Given the description of an element on the screen output the (x, y) to click on. 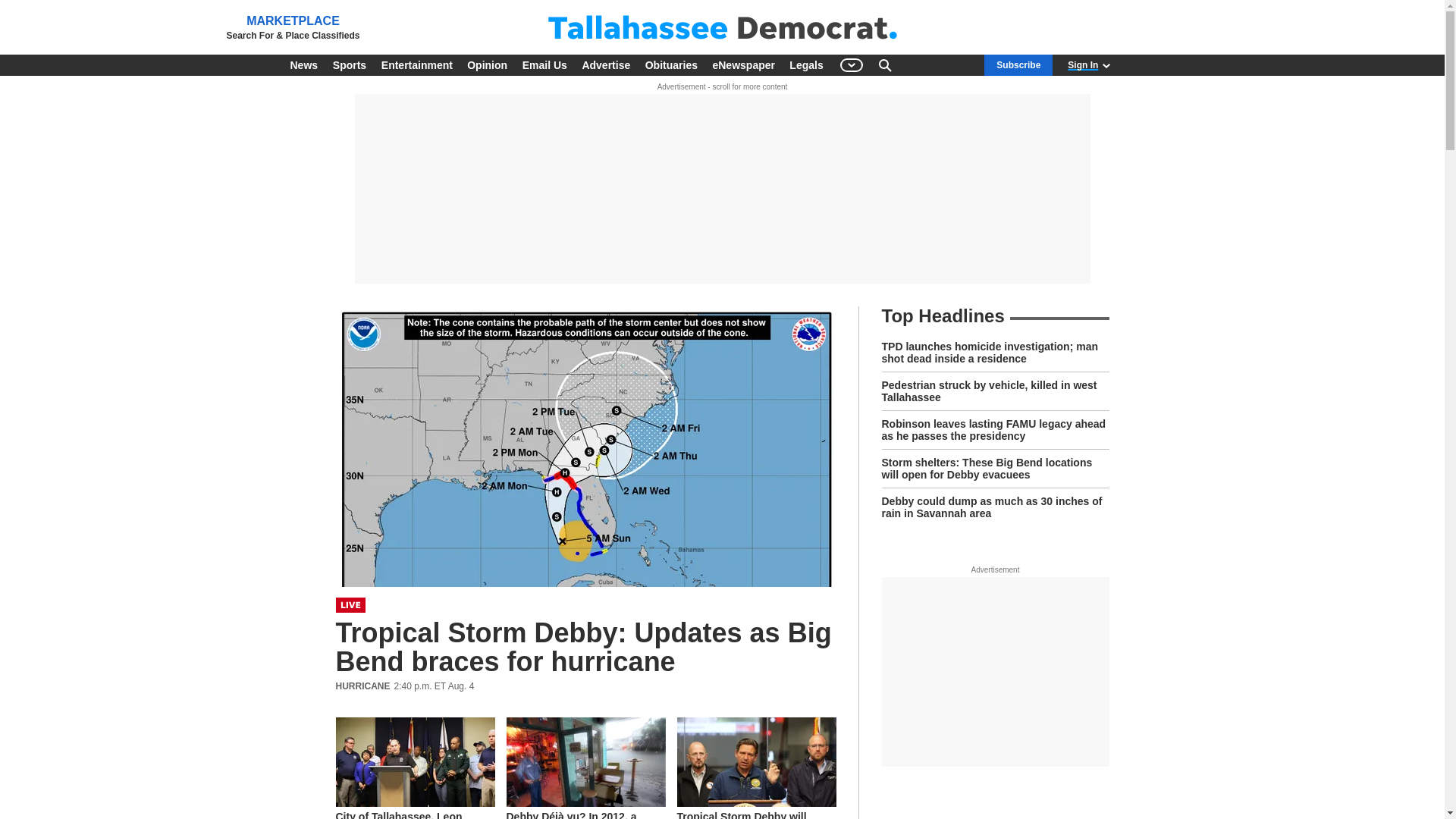
Legals (805, 65)
eNewspaper (742, 65)
News (303, 65)
Advertise (605, 65)
Opinion (486, 65)
Sports (349, 65)
Obituaries (670, 65)
Email Us (545, 65)
Search (885, 65)
Entertainment (417, 65)
